Given the description of an element on the screen output the (x, y) to click on. 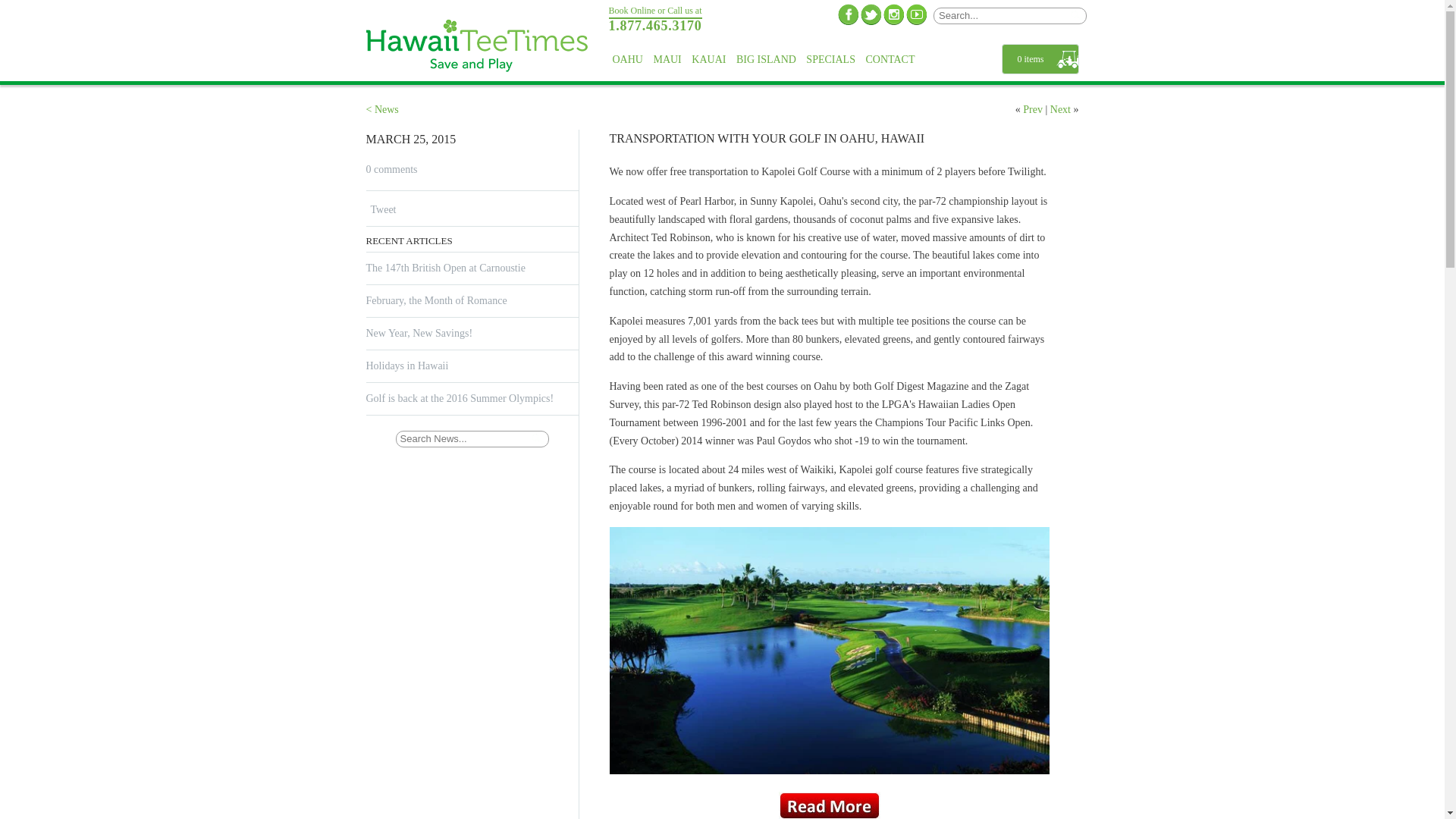
MAUI (666, 59)
0 items (1039, 59)
Oahu (627, 59)
Hawaii Tee Times on Instagram (893, 14)
Hawaii Tee Times on Twitter (870, 14)
Hawaii Tee Times on YouTube (915, 14)
Cart (1039, 59)
Hawaii Tee Times (478, 48)
OAHU (627, 59)
Hawaii Tee Times on Facebook (848, 14)
